Given the description of an element on the screen output the (x, y) to click on. 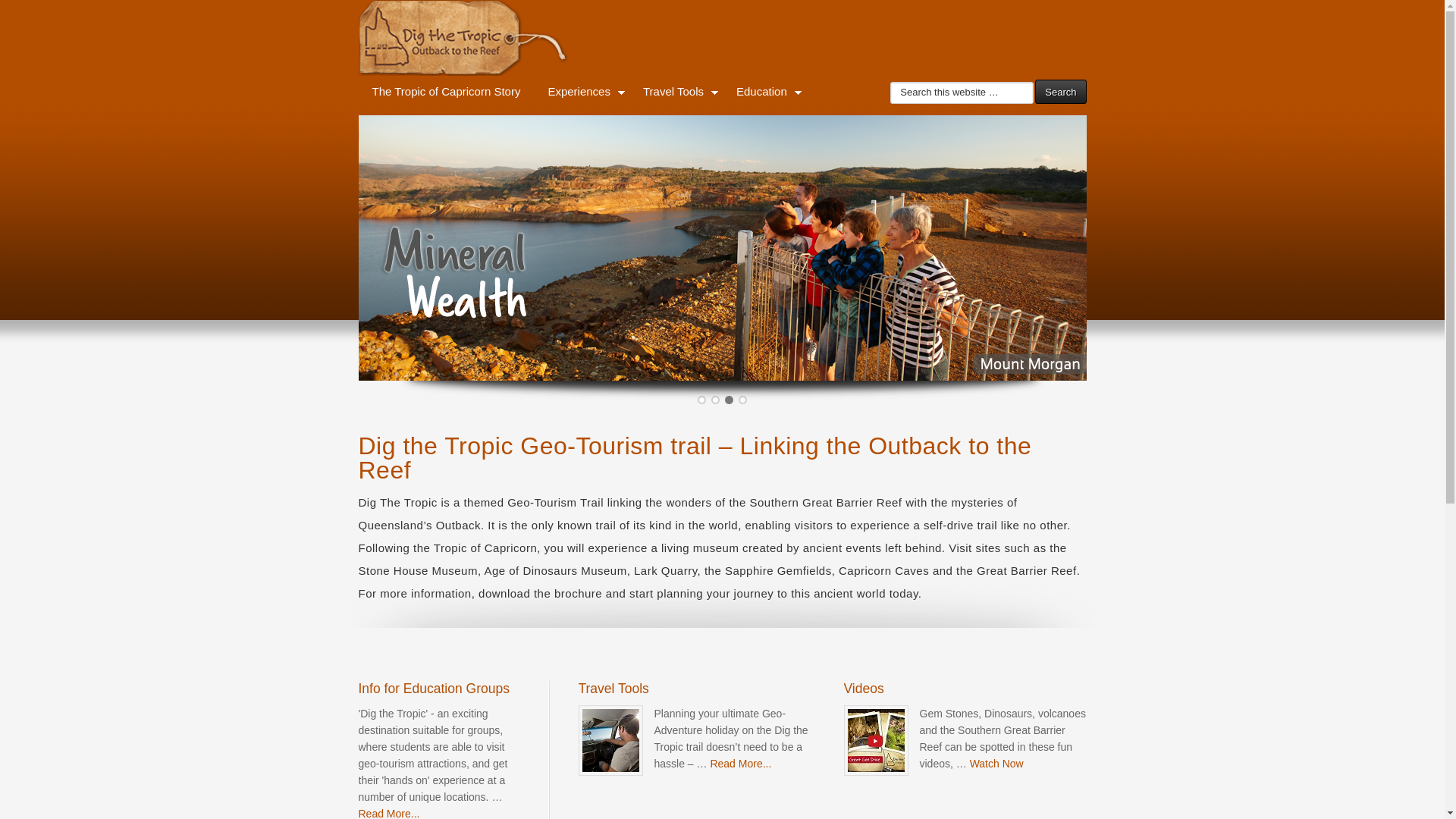
The Tropic of Capricorn Story Element type: text (445, 91)
1 Element type: text (701, 400)
Search Element type: text (1060, 91)
4 Element type: text (742, 400)
Read More... Element type: text (740, 763)
Watch Now Element type: text (996, 763)
Dig the Tropic Element type: text (721, 37)
3 Element type: text (729, 400)
2 Element type: text (715, 400)
